Given the description of an element on the screen output the (x, y) to click on. 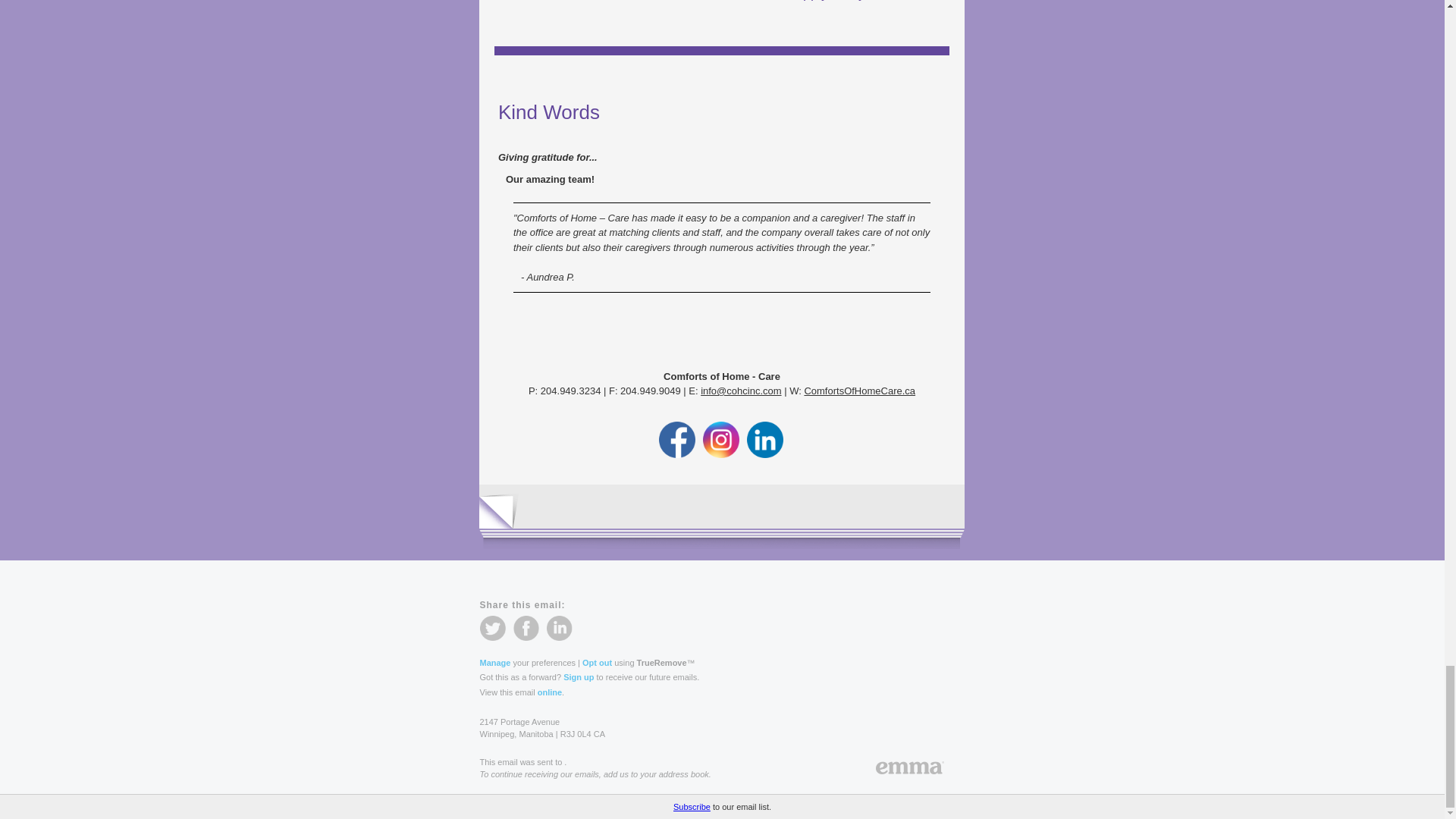
Sign up (578, 676)
ComfortsOfHomeCare.ca (859, 390)
online (549, 691)
Opt out (596, 661)
Manage (495, 661)
